Given the description of an element on the screen output the (x, y) to click on. 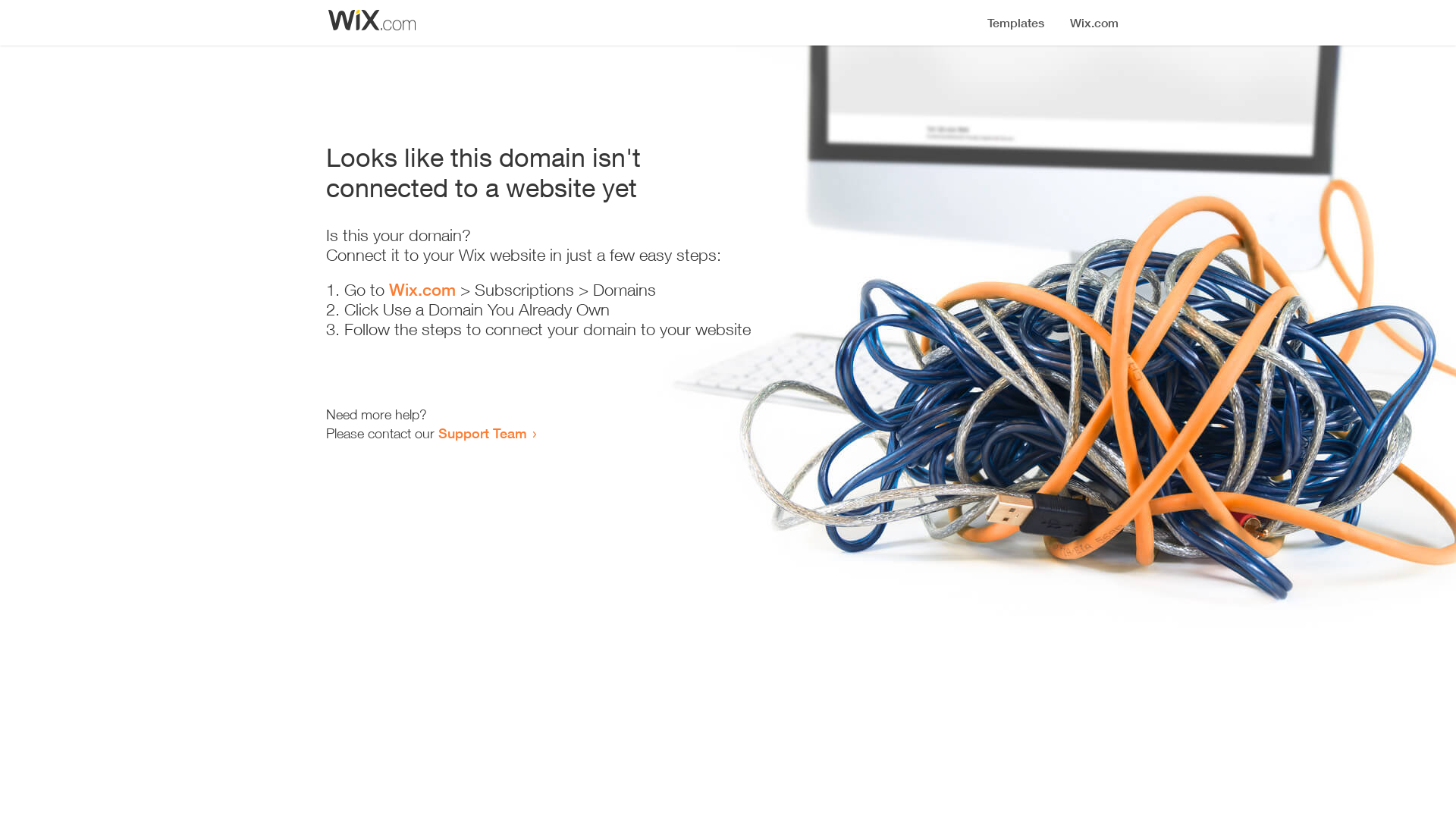
Wix.com Element type: text (422, 289)
Support Team Element type: text (482, 432)
